Given the description of an element on the screen output the (x, y) to click on. 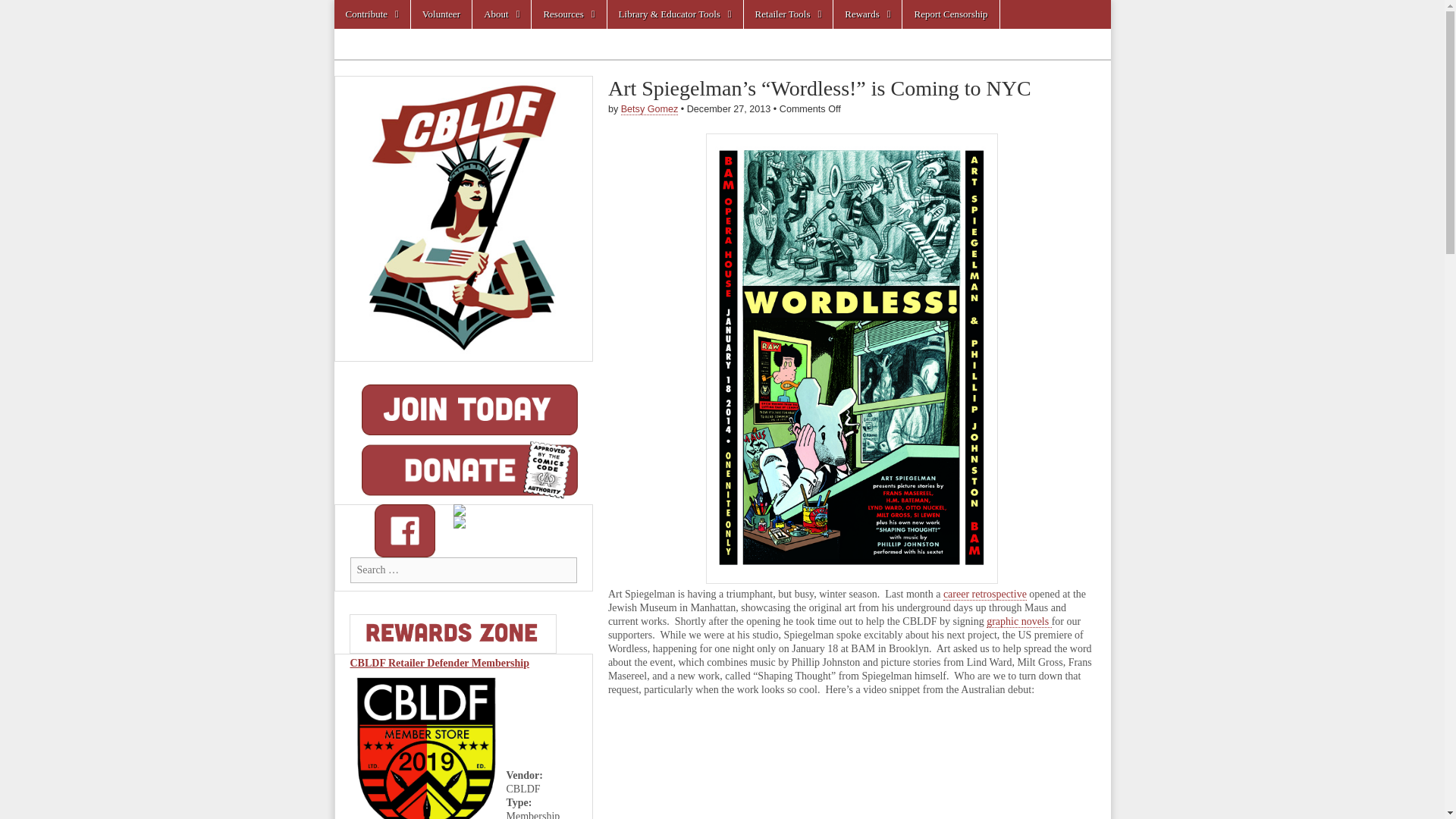
About (501, 14)
Posts by Betsy Gomez (649, 109)
Contribute (371, 14)
Resources (568, 14)
Retail Tools (788, 14)
Volunteer (440, 14)
